Given the description of an element on the screen output the (x, y) to click on. 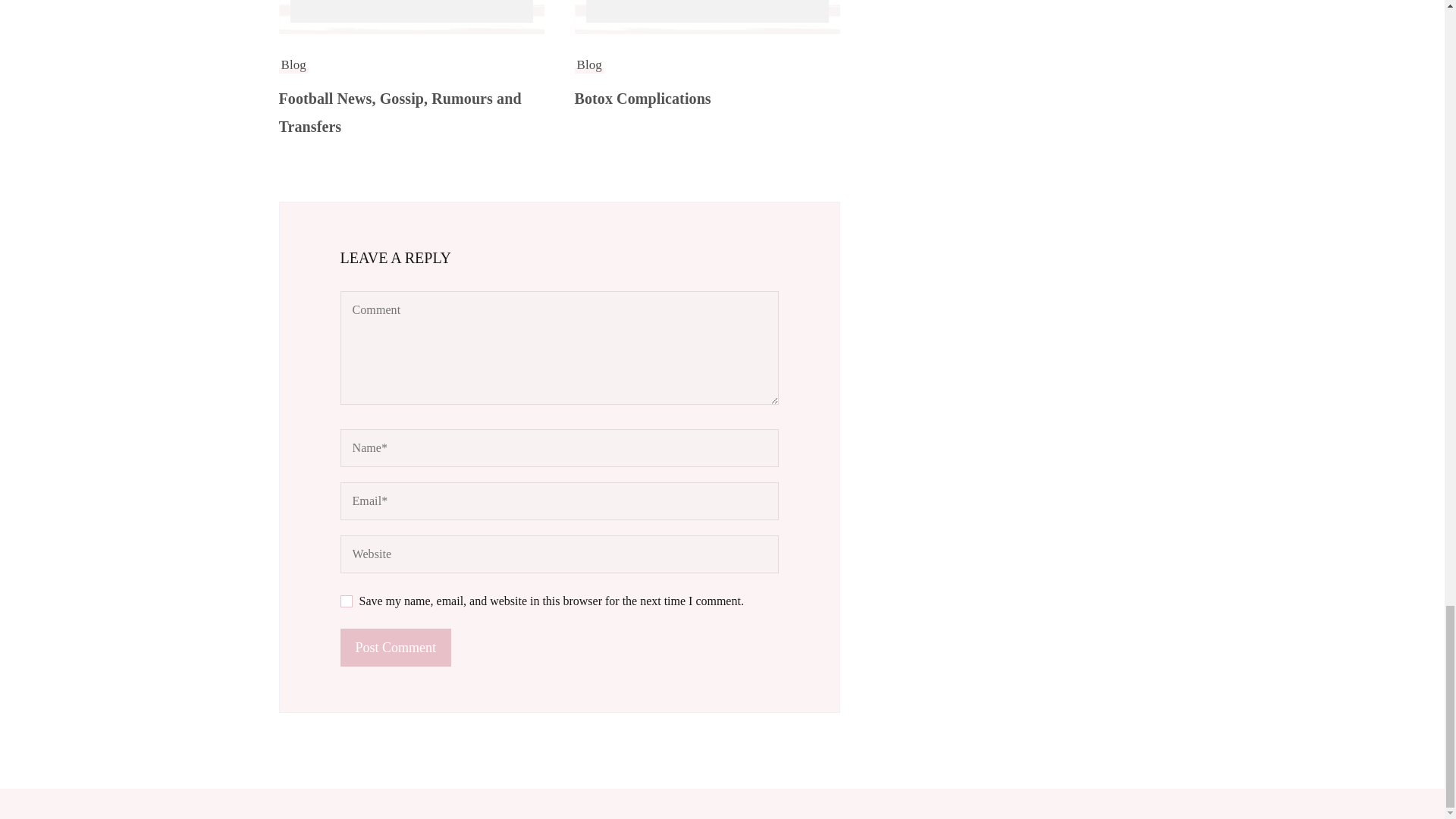
Post Comment (395, 647)
